Given the description of an element on the screen output the (x, y) to click on. 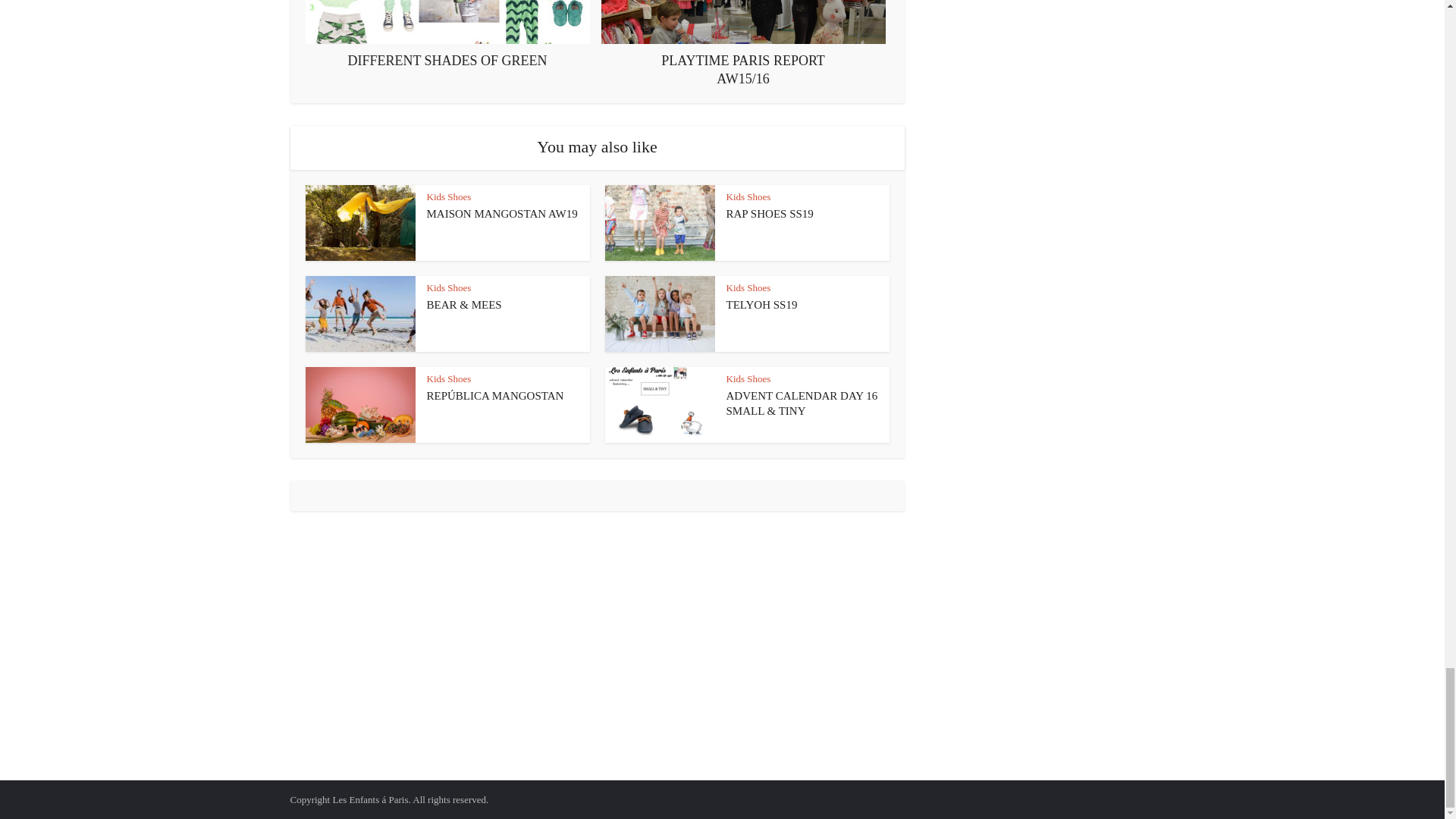
TELYOH SS19 (761, 304)
MAISON MANGOSTAN AW19 (501, 214)
RAP SHOES SS19 (769, 214)
